Given the description of an element on the screen output the (x, y) to click on. 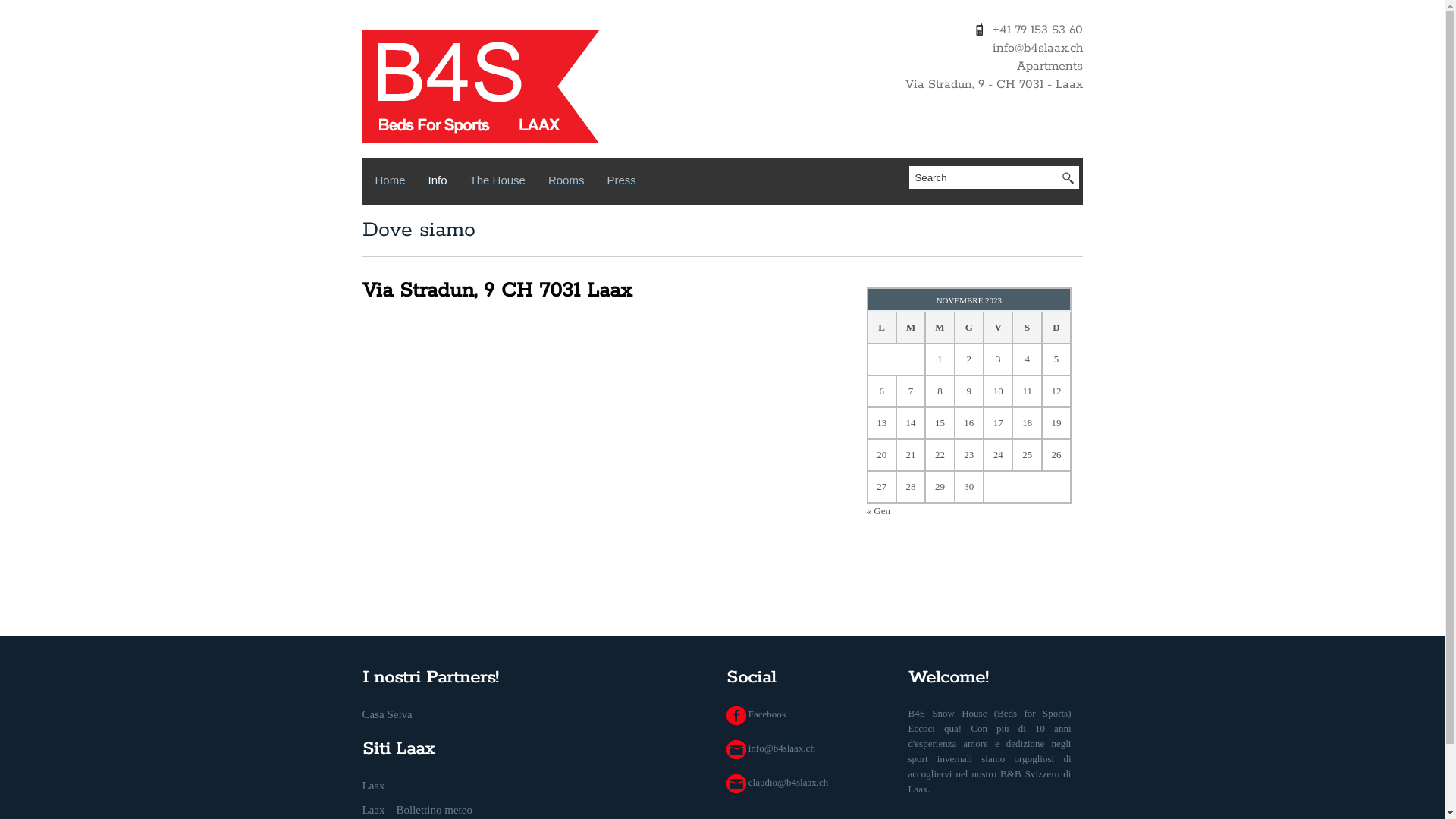
Laax Element type: text (373, 785)
claudio@b4slaax.ch Element type: text (777, 781)
The House Element type: text (497, 183)
Rooms Element type: text (566, 183)
Facebook Element type: text (756, 713)
info@b4slaax.ch Element type: text (770, 747)
Press Element type: text (621, 183)
Home Element type: text (389, 183)
Info Element type: text (437, 183)
Casa Selva Element type: text (387, 714)
